Given the description of an element on the screen output the (x, y) to click on. 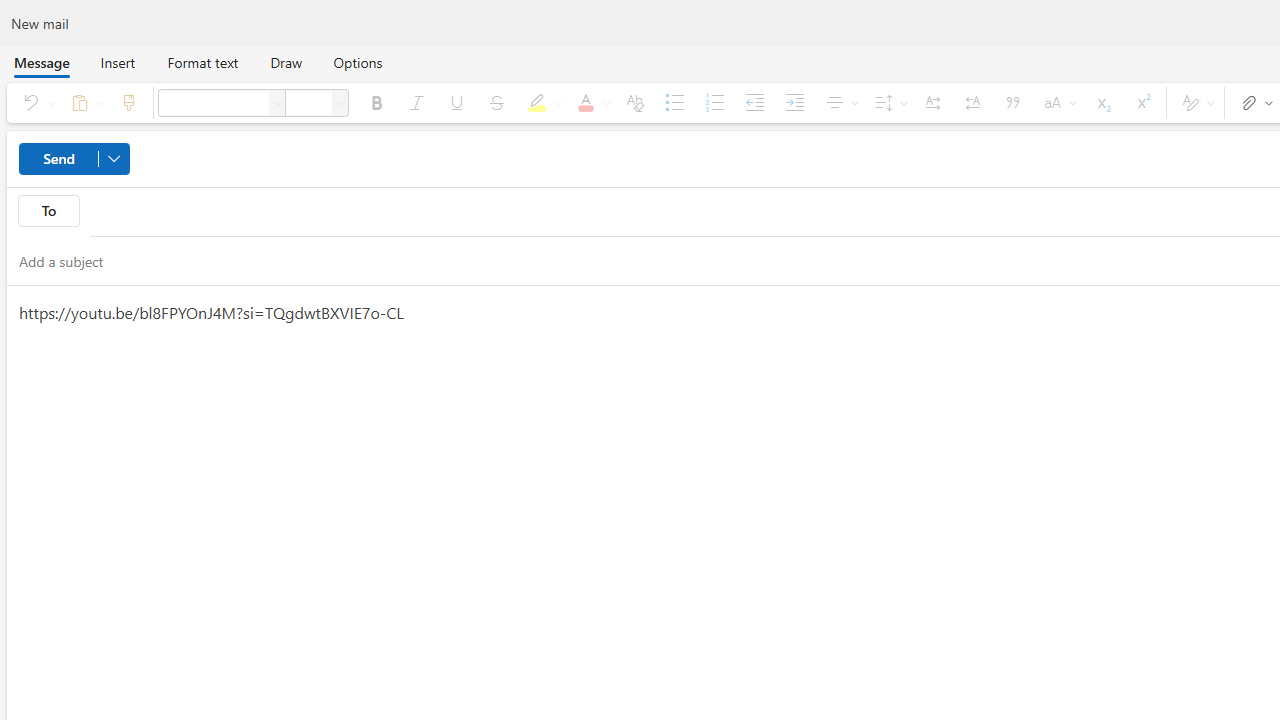
Draw (285, 61)
Font size (308, 102)
Right-to-left (973, 102)
Clear formatting (634, 102)
Bullets (675, 102)
Change case (1056, 102)
Text highlight color (541, 102)
System (10, 11)
Bold (376, 102)
Font (213, 102)
Underline (456, 102)
Font color (589, 102)
More send options (114, 158)
Font (277, 102)
Undo (35, 102)
